Given the description of an element on the screen output the (x, y) to click on. 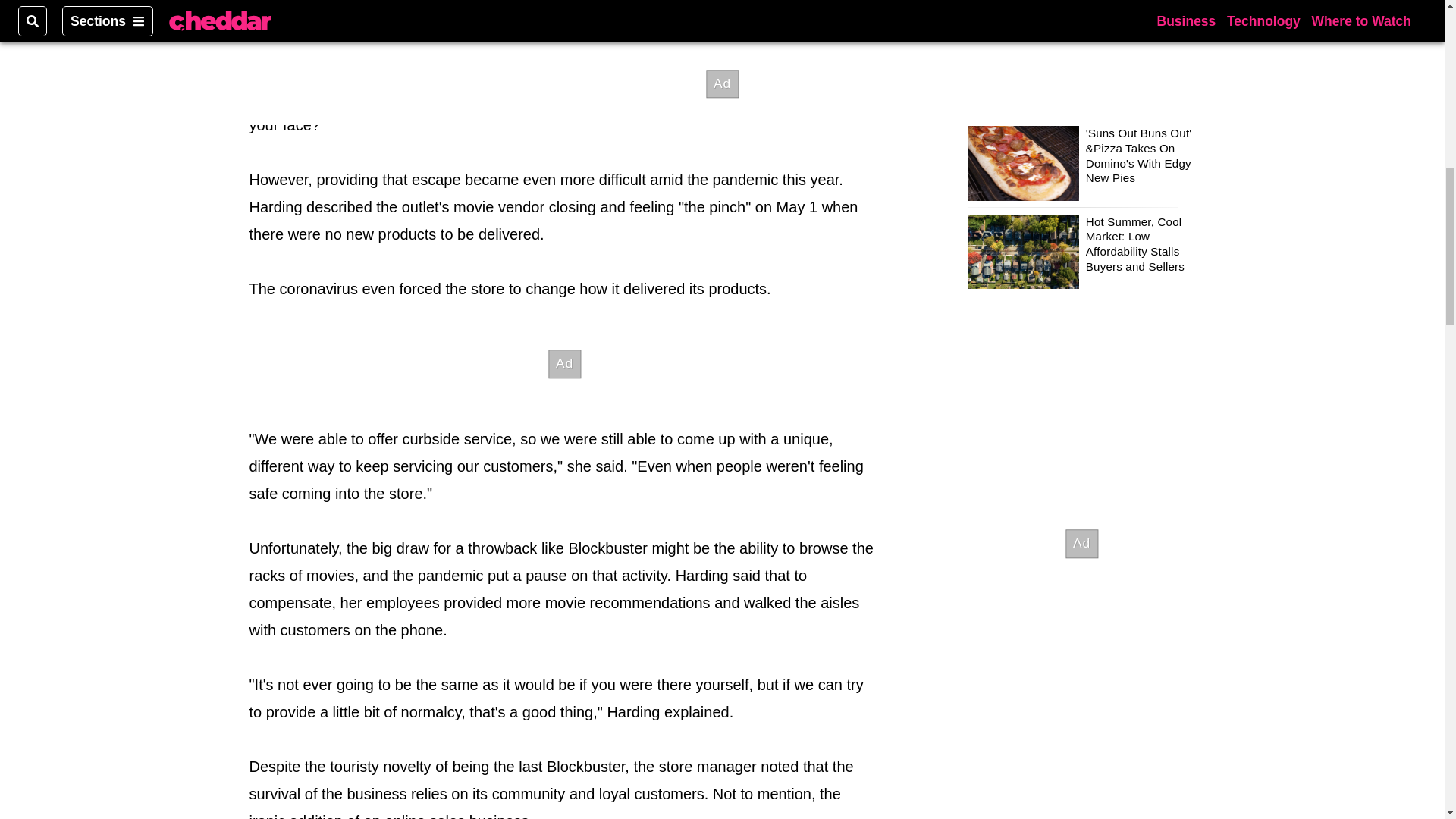
3rd party ad content (564, 364)
